Given the description of an element on the screen output the (x, y) to click on. 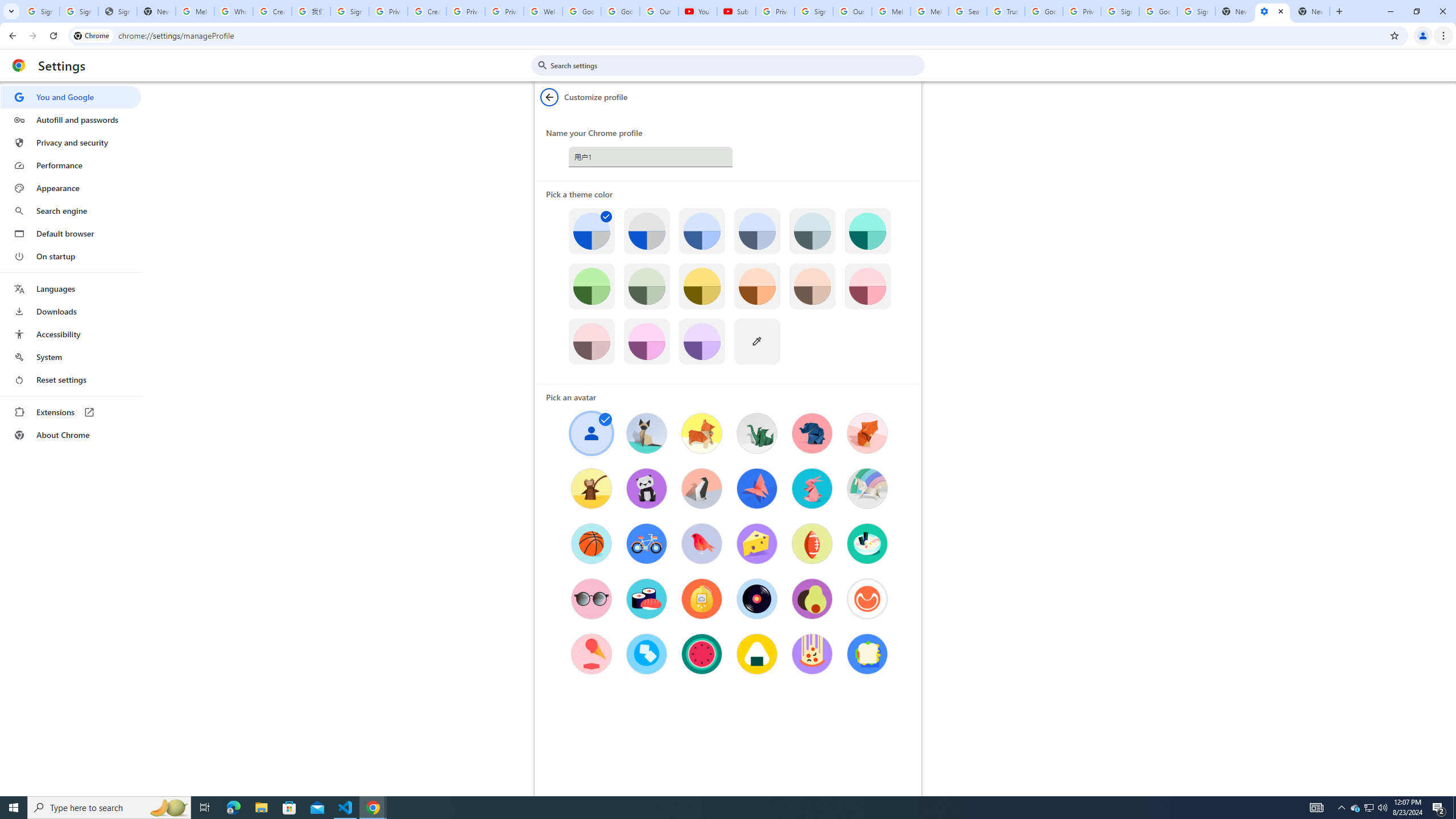
Settings - Customize profile (1272, 11)
Google Cybersecurity Innovations - Google Safety Center (1158, 11)
